Given the description of an element on the screen output the (x, y) to click on. 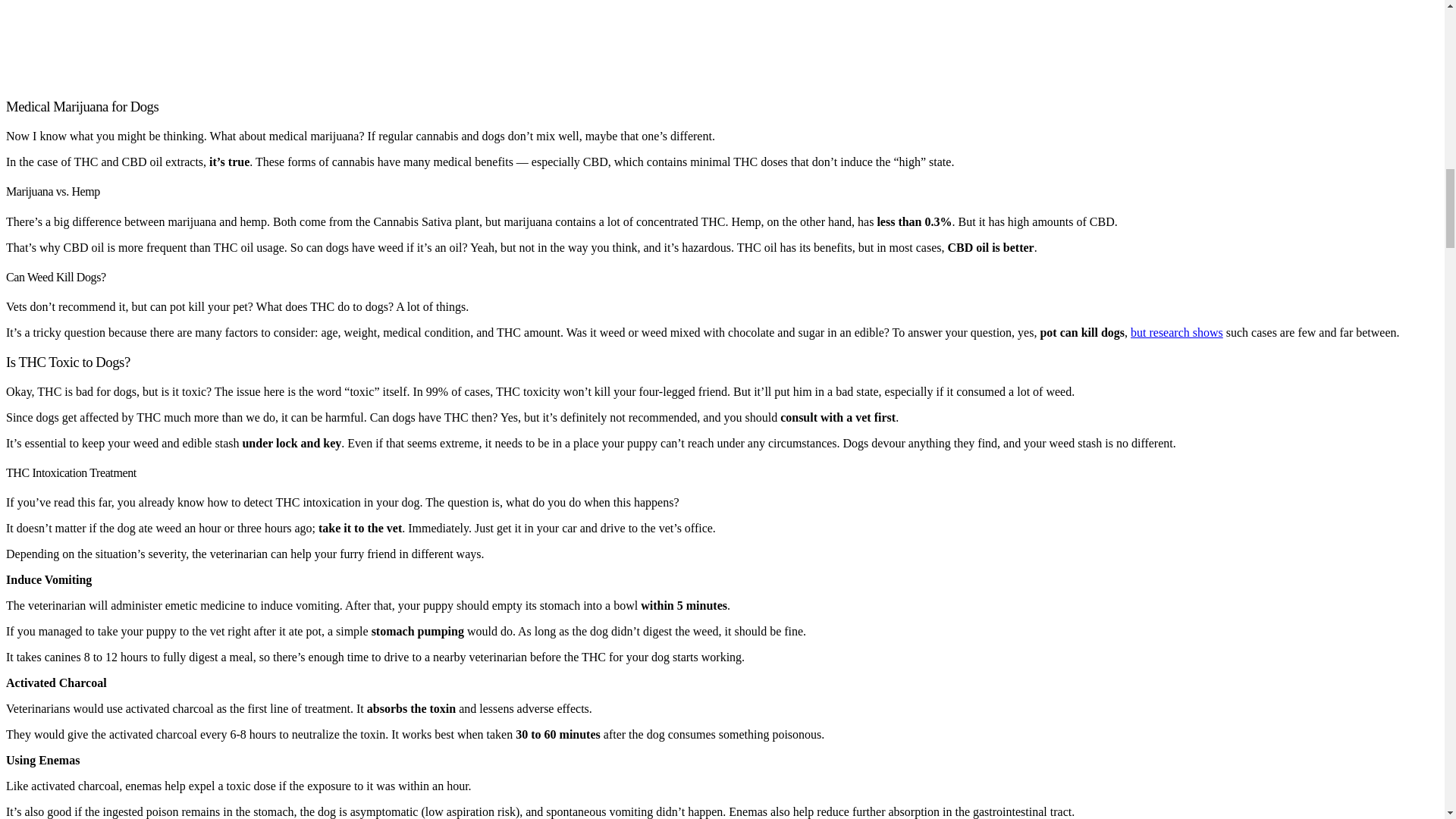
but research shows (1177, 332)
